Given the description of an element on the screen output the (x, y) to click on. 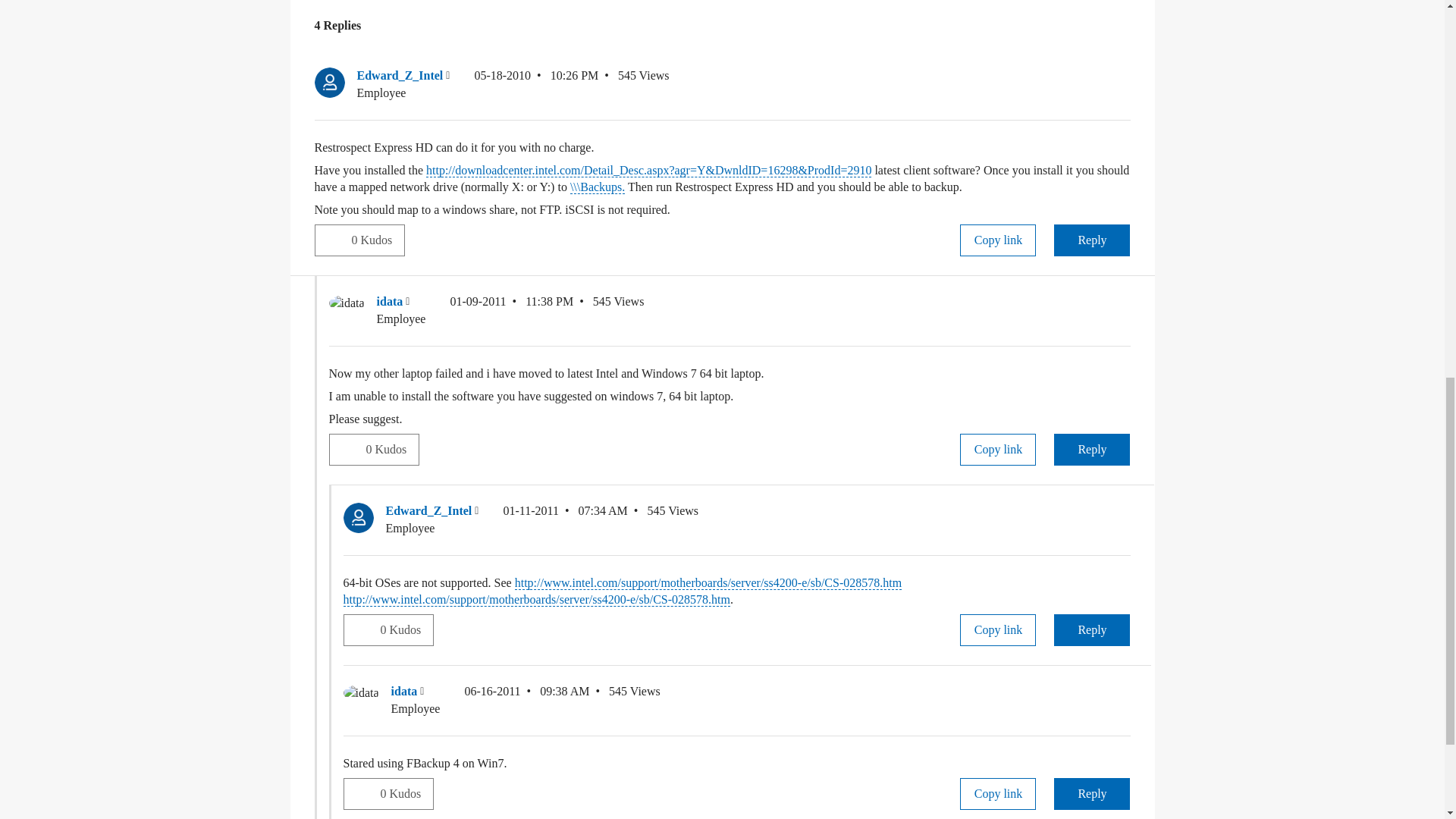
The total number of kudos this post has received. (392, 449)
Posted on (536, 84)
Click here to give kudos to this post. (347, 448)
The total number of kudos this post has received. (377, 240)
Posted on (511, 310)
Click here to give kudos to this post. (332, 239)
idata (347, 303)
